Given the description of an element on the screen output the (x, y) to click on. 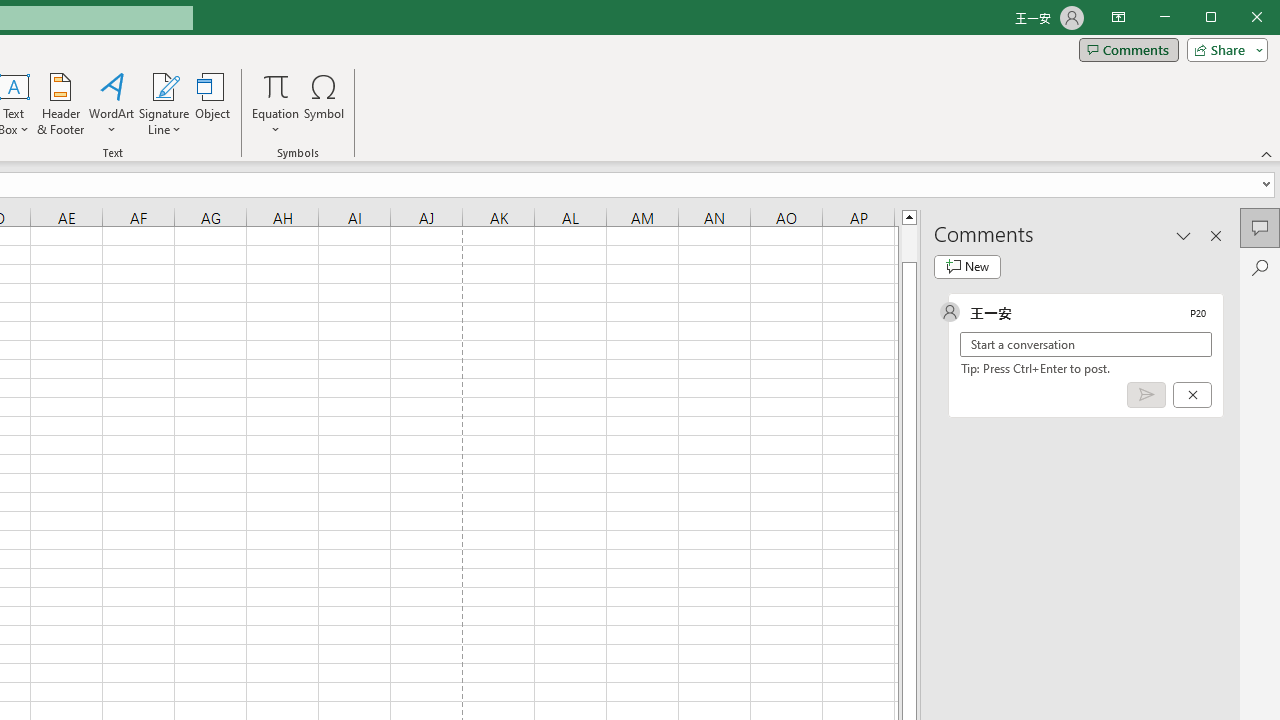
Equation (275, 104)
New comment (967, 266)
Object... (213, 104)
WordArt (111, 104)
Equation (275, 86)
Signature Line (164, 104)
Symbol... (324, 104)
Signature Line (164, 86)
Start a conversation (1085, 344)
